Given the description of an element on the screen output the (x, y) to click on. 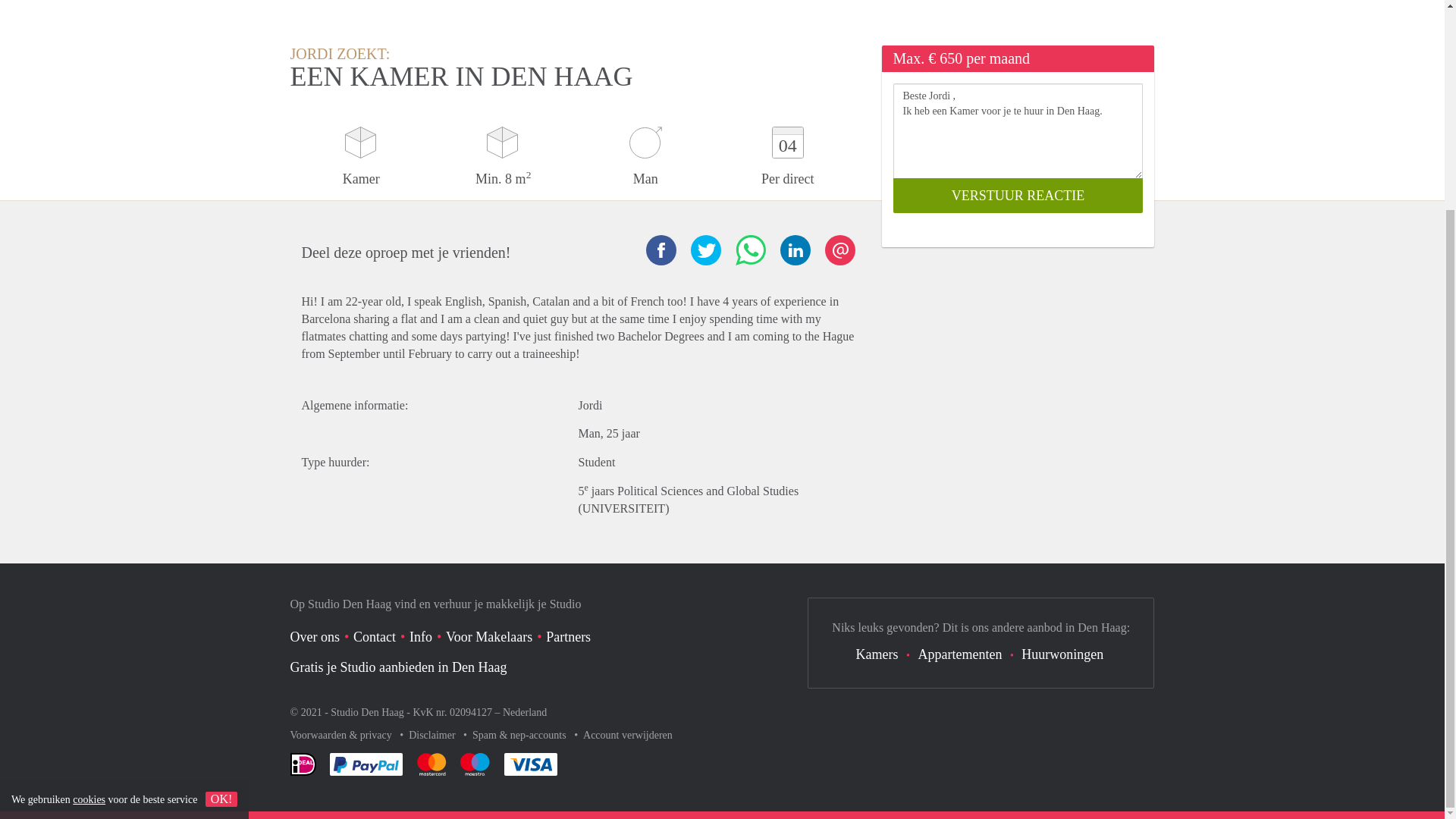
Account verwijderen (627, 735)
Disclaimer (433, 735)
Appartementen (959, 654)
Deel deze oproep via Whatsapp (750, 250)
Over ons (314, 636)
Info (420, 636)
Voor Makelaars (488, 636)
Deel deze oproep via E-mail (840, 250)
Partners (568, 636)
Huurwoningen (1062, 654)
cookies (88, 526)
Deel deze oproep via Twitter (705, 250)
Deel deze oproep via Facebook (661, 250)
Deel deze oproep via LinkedIn (793, 250)
Contact (374, 636)
